Given the description of an element on the screen output the (x, y) to click on. 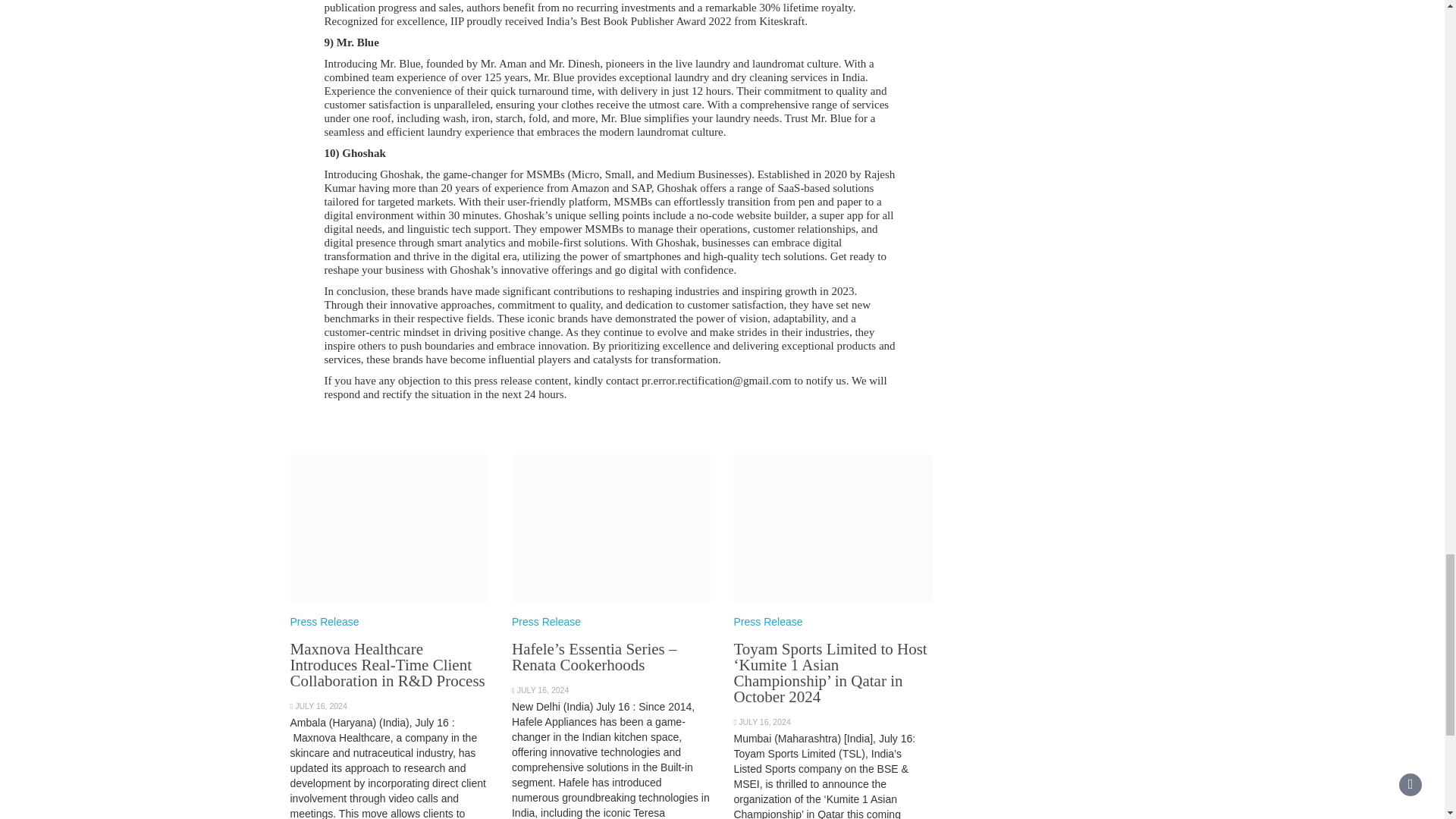
Press Release (323, 621)
JULY 16, 2024 (764, 721)
Press Release (767, 621)
JULY 16, 2024 (542, 689)
Press Release (546, 621)
JULY 16, 2024 (321, 705)
